Given the description of an element on the screen output the (x, y) to click on. 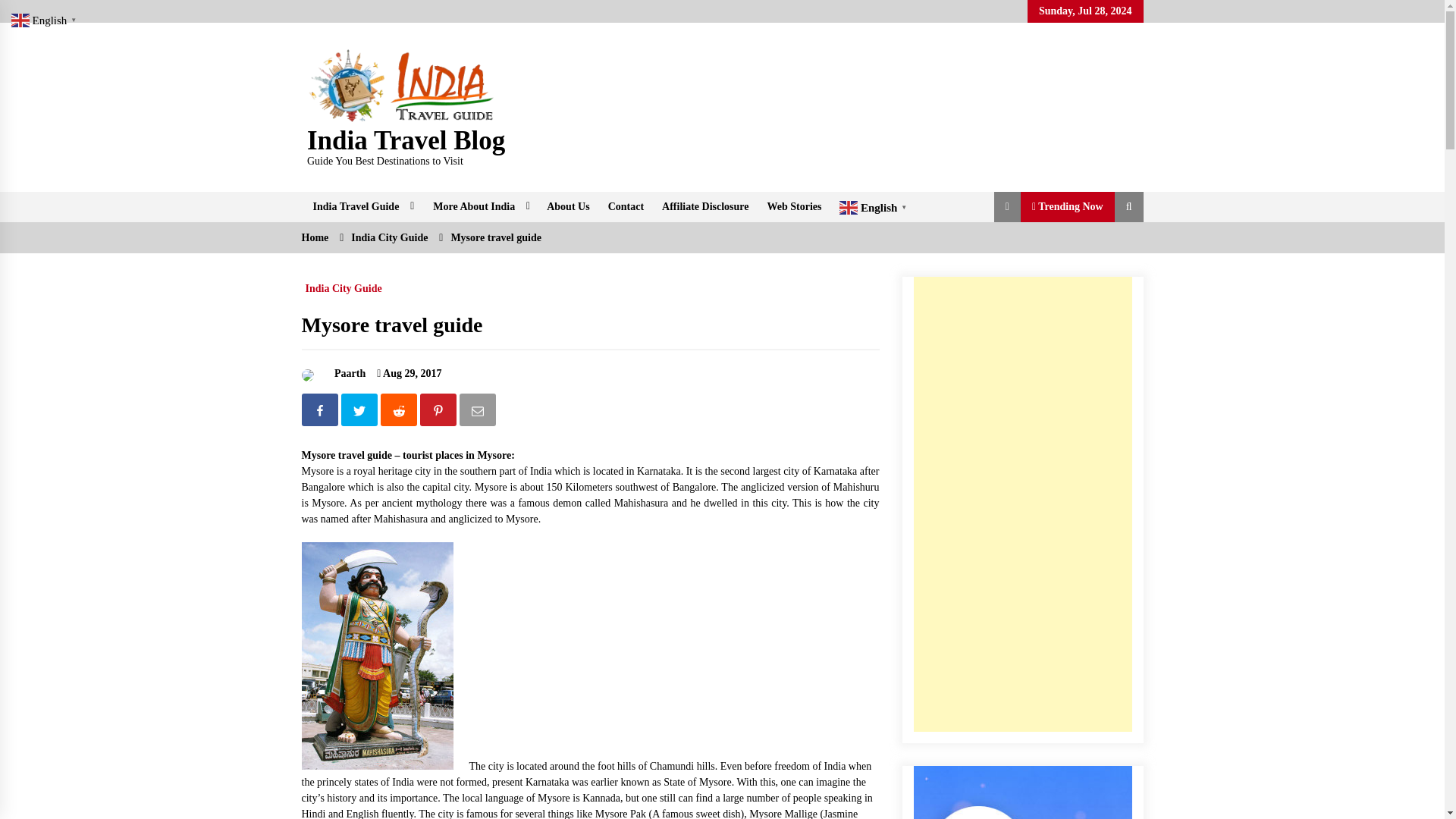
Share on Reddit (400, 412)
Contact (625, 206)
Share on Facebook (320, 412)
India Travel Blog (406, 140)
Tweet (360, 412)
Web Stories (794, 206)
Pin (440, 412)
Email (479, 412)
More (479, 206)
Affiliate Disclosure (704, 206)
India Travel Guide (361, 206)
More About India (479, 206)
About Us (567, 206)
